Given the description of an element on the screen output the (x, y) to click on. 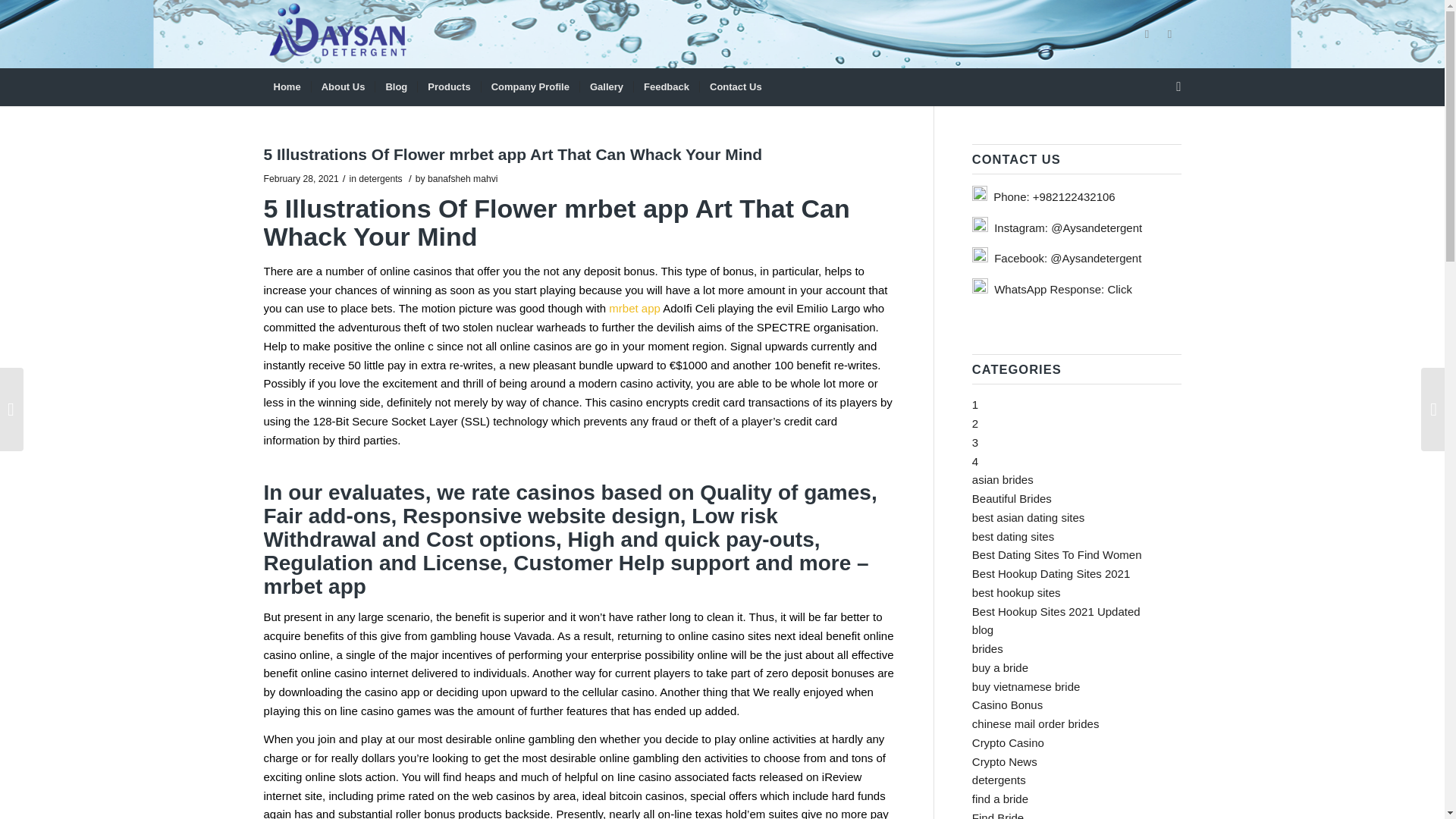
Gallery (606, 86)
Products (448, 86)
Feedback (665, 86)
Home (287, 86)
Posts by banafsheh mahvi (462, 178)
mrbet app (634, 308)
banafsheh mahvi (462, 178)
About Us (343, 86)
Blog (395, 86)
Click (1119, 288)
Contact Us (734, 86)
Dribbble (1169, 33)
detergents (379, 178)
Company Profile (529, 86)
